Given the description of an element on the screen output the (x, y) to click on. 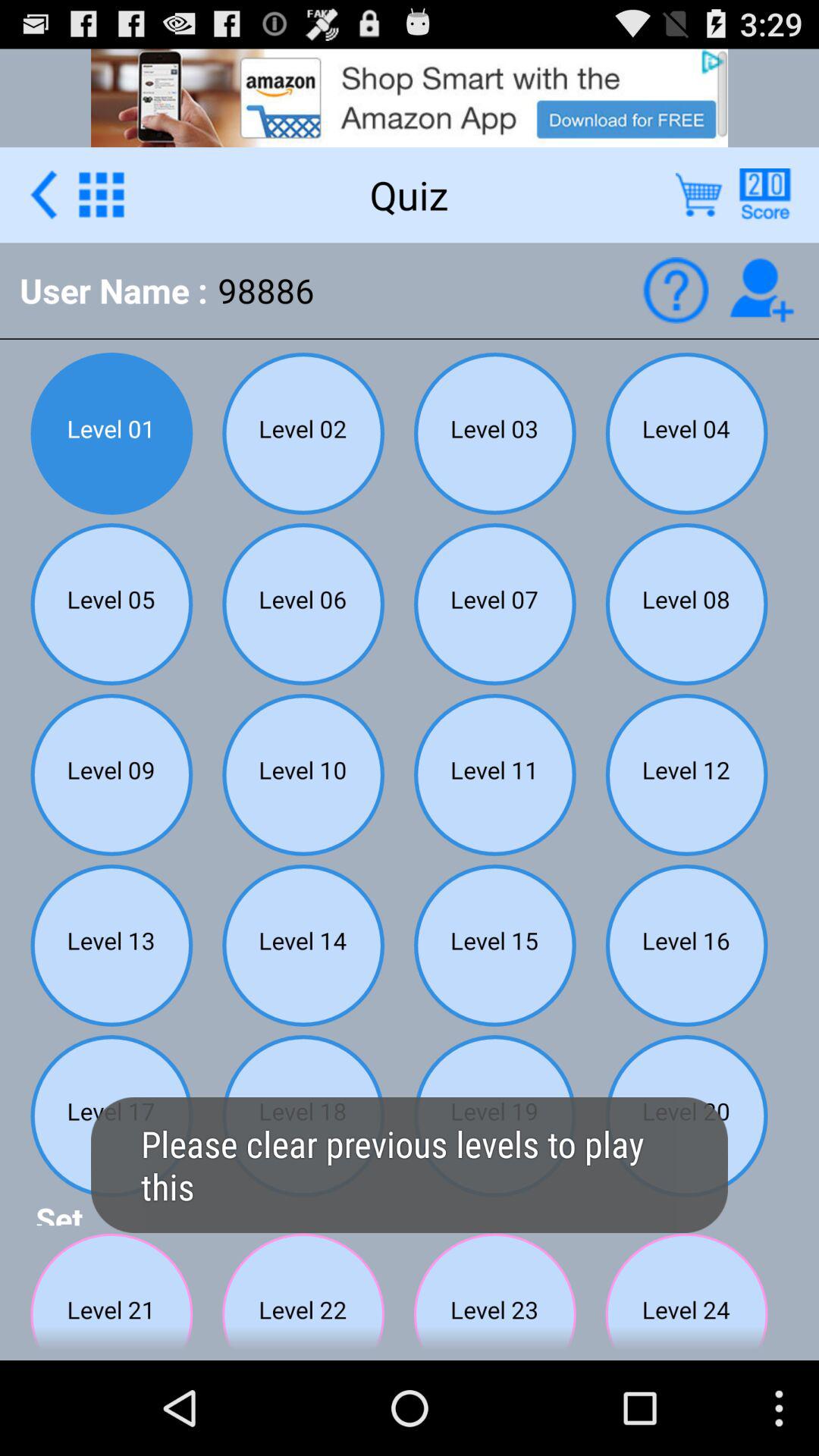
add user (761, 290)
